Given the description of an element on the screen output the (x, y) to click on. 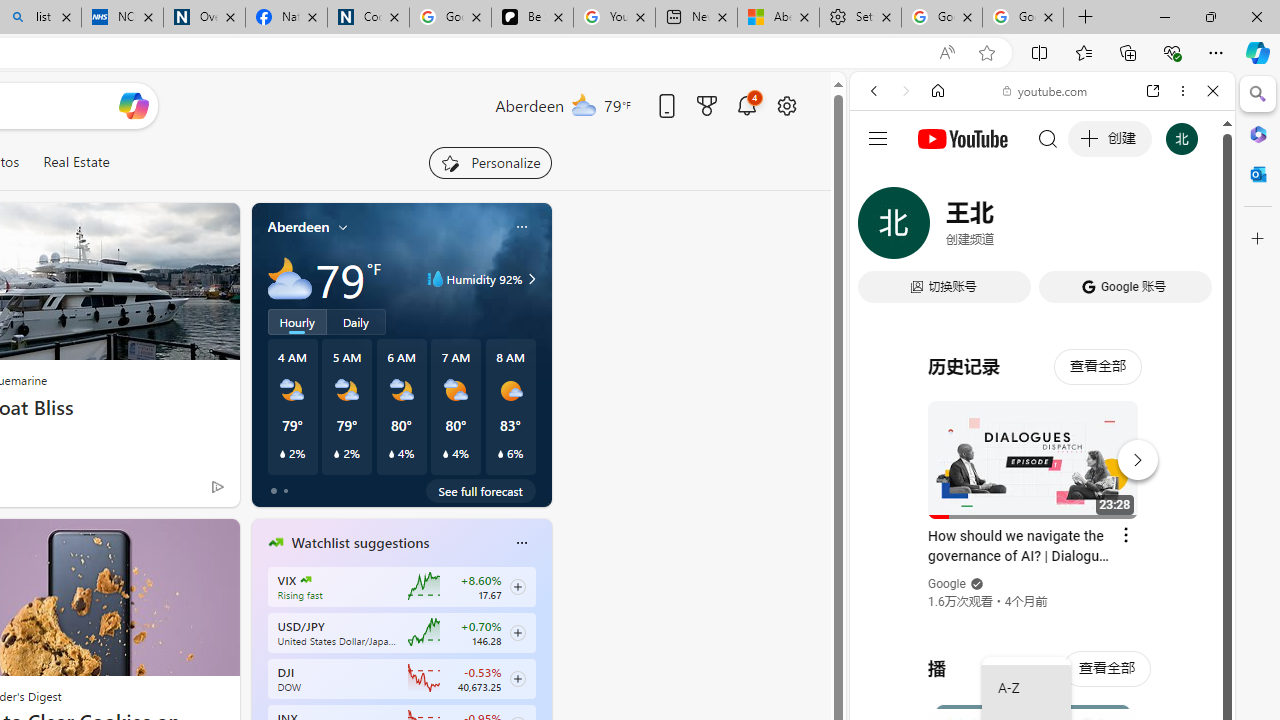
Be Smart | creating Science videos | Patreon (532, 17)
Google (1042, 494)
youtube.com (1046, 90)
tab-1 (285, 490)
A-Z (1026, 688)
